Given the description of an element on the screen output the (x, y) to click on. 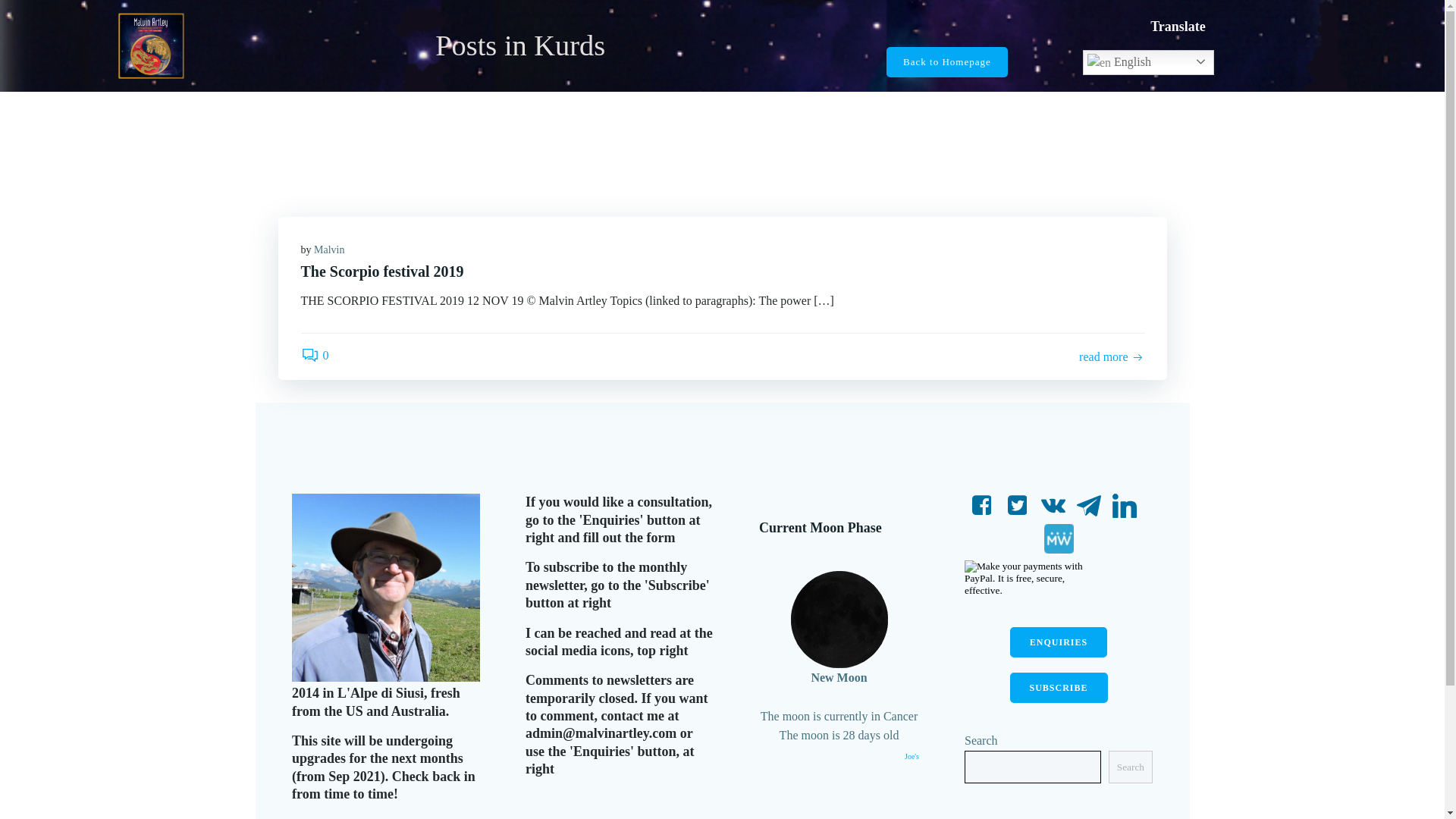
Back to Homepage (946, 61)
